Given the description of an element on the screen output the (x, y) to click on. 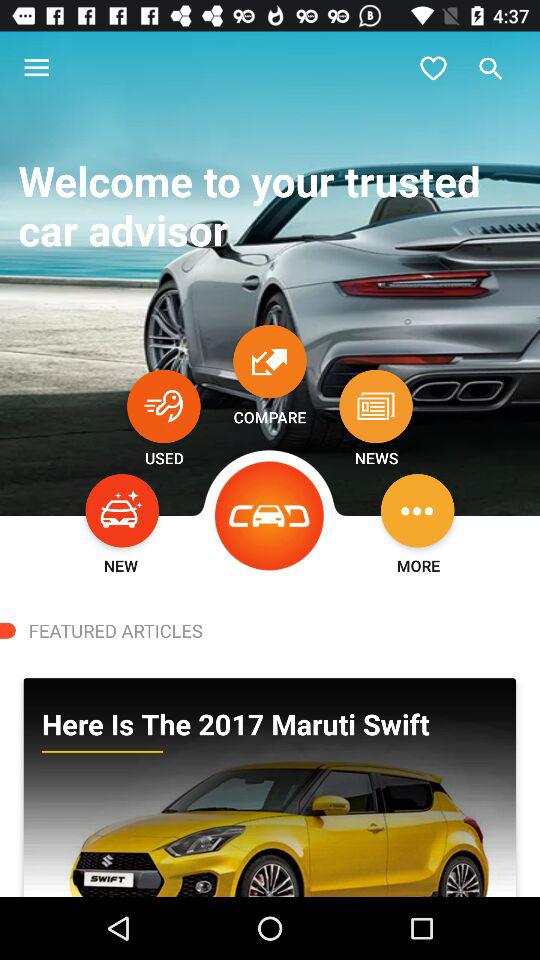
come back (163, 406)
